Given the description of an element on the screen output the (x, y) to click on. 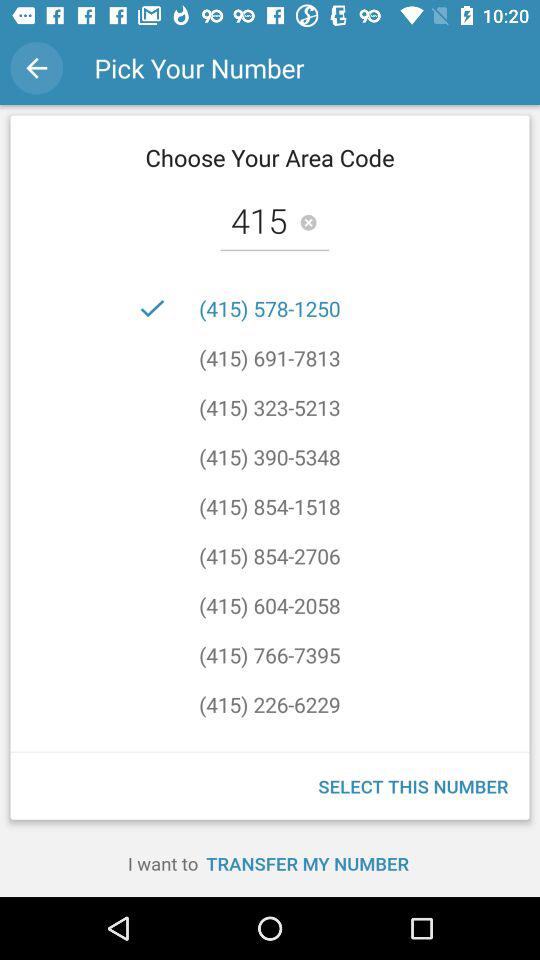
tap the (415) 578-1250 (269, 308)
